Given the description of an element on the screen output the (x, y) to click on. 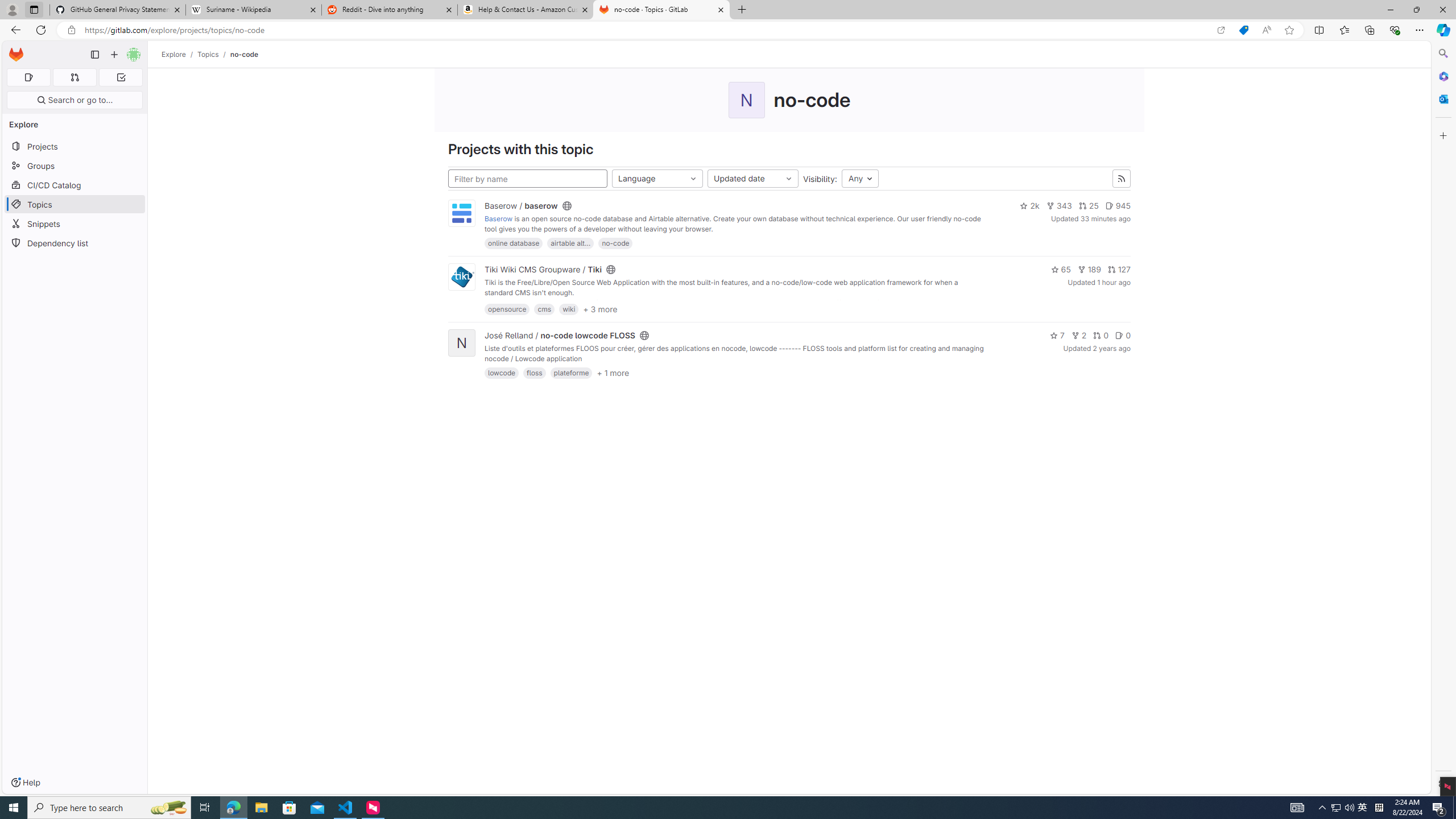
no-code (614, 243)
Dependency list (74, 242)
2 (1078, 335)
Projects (74, 145)
airtable alt... (570, 243)
Any (860, 178)
127 (1119, 269)
Class: s14 gl-mr-2 (1119, 334)
Class: s16 (644, 335)
